Given the description of an element on the screen output the (x, y) to click on. 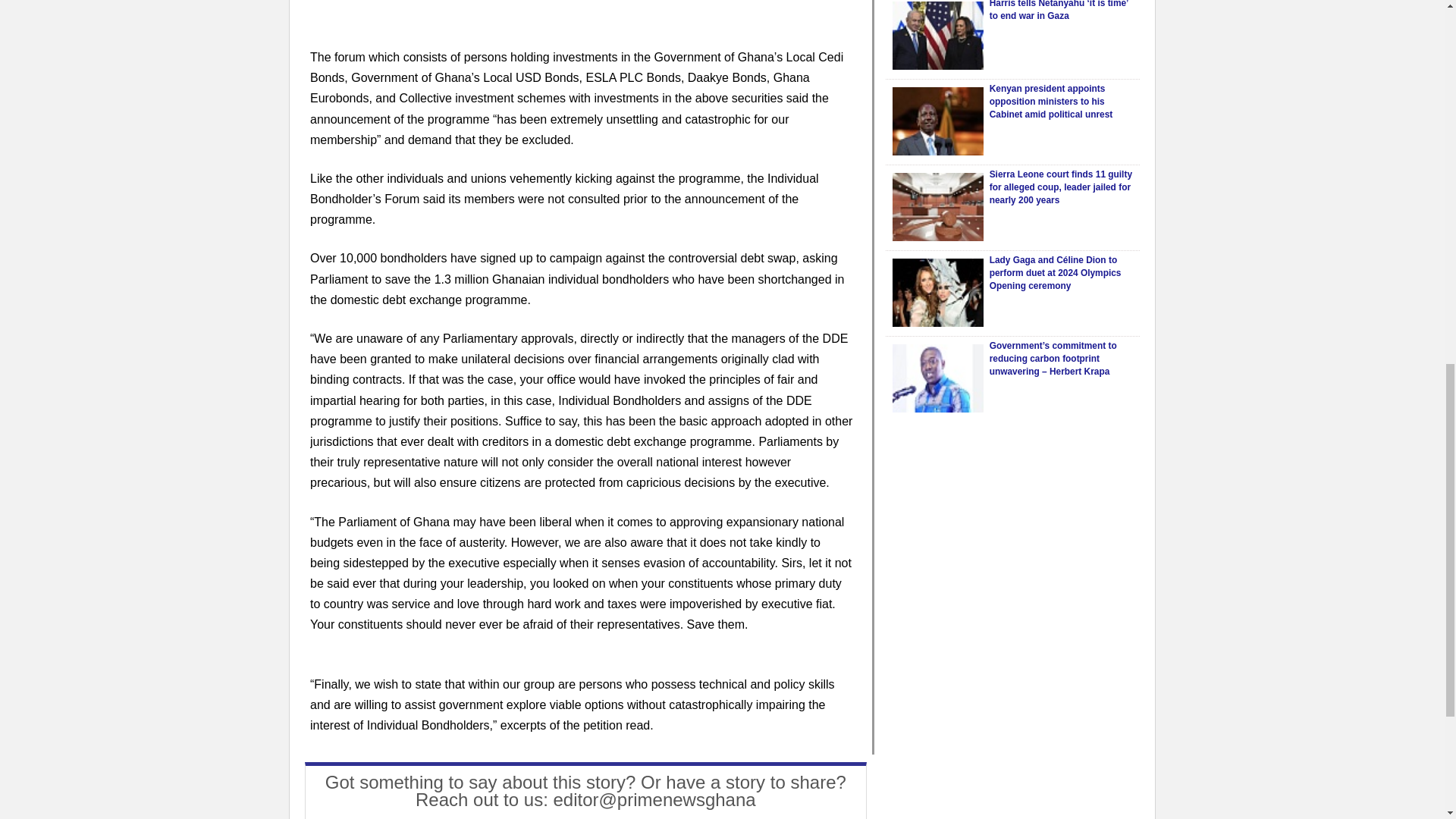
Advertisement (581, 23)
